Given the description of an element on the screen output the (x, y) to click on. 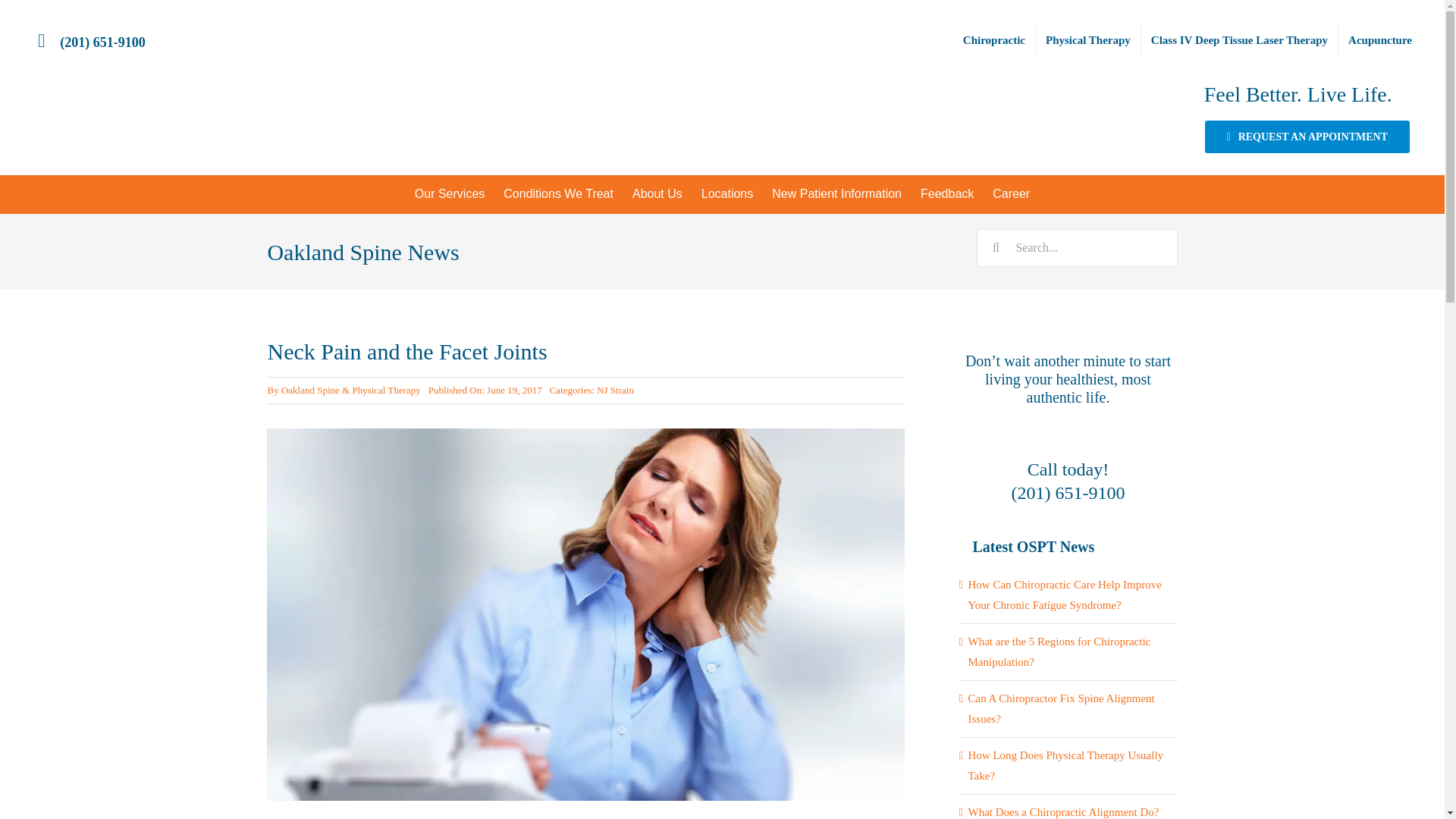
New Patient Information (836, 193)
Class IV Deep Tissue Laser Therapy (1239, 39)
Chiropractic (994, 39)
Career (1011, 193)
Physical Therapy (1087, 39)
Appointment Request (1307, 136)
REQUEST AN APPOINTMENT (1307, 136)
Feedback (947, 193)
About Us (657, 193)
